Given the description of an element on the screen output the (x, y) to click on. 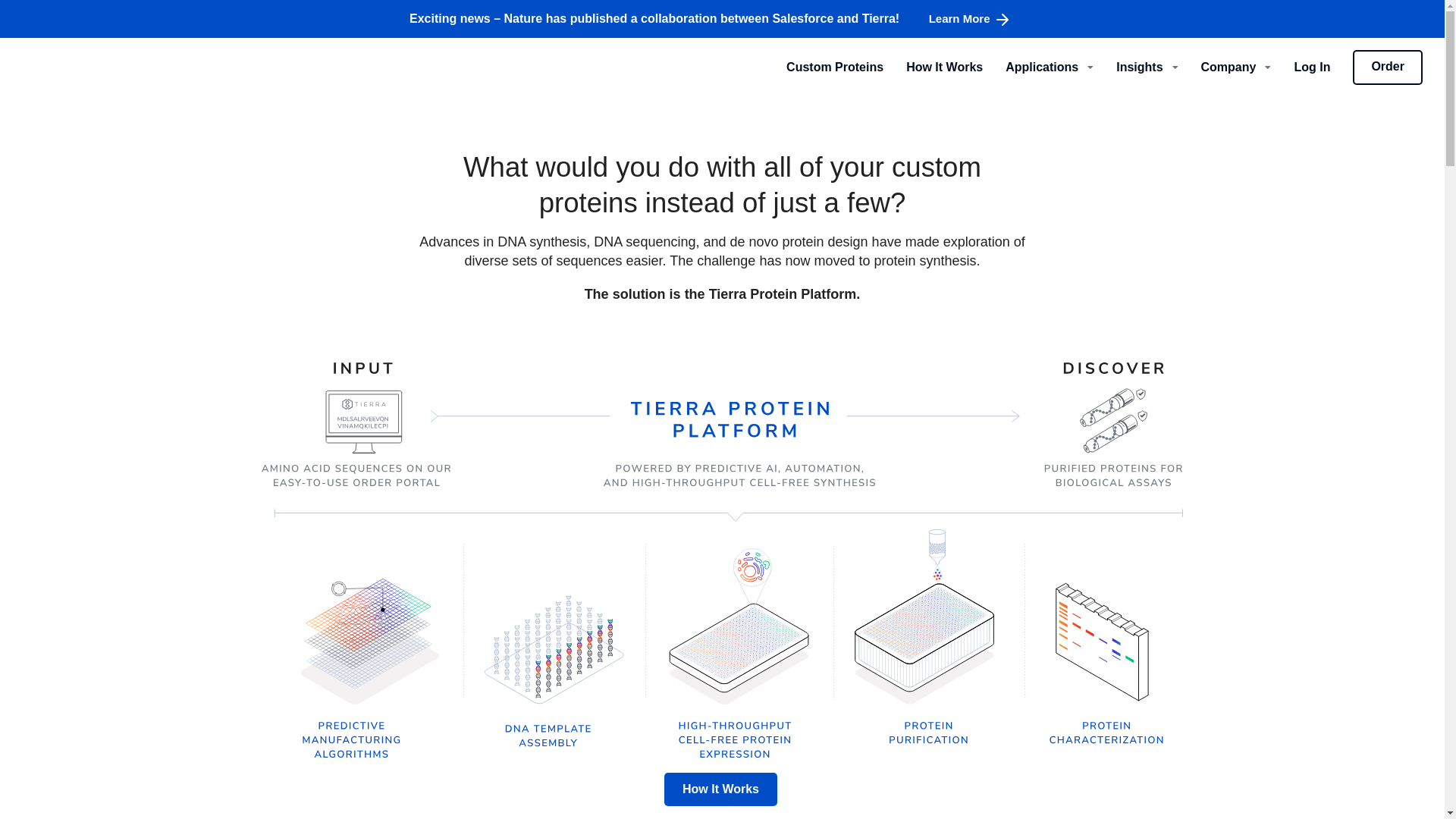
How It Works (720, 789)
Custom Proteins (822, 66)
Order (1387, 67)
Learn More  (971, 19)
Log In (1300, 66)
How It Works (932, 66)
